Given the description of an element on the screen output the (x, y) to click on. 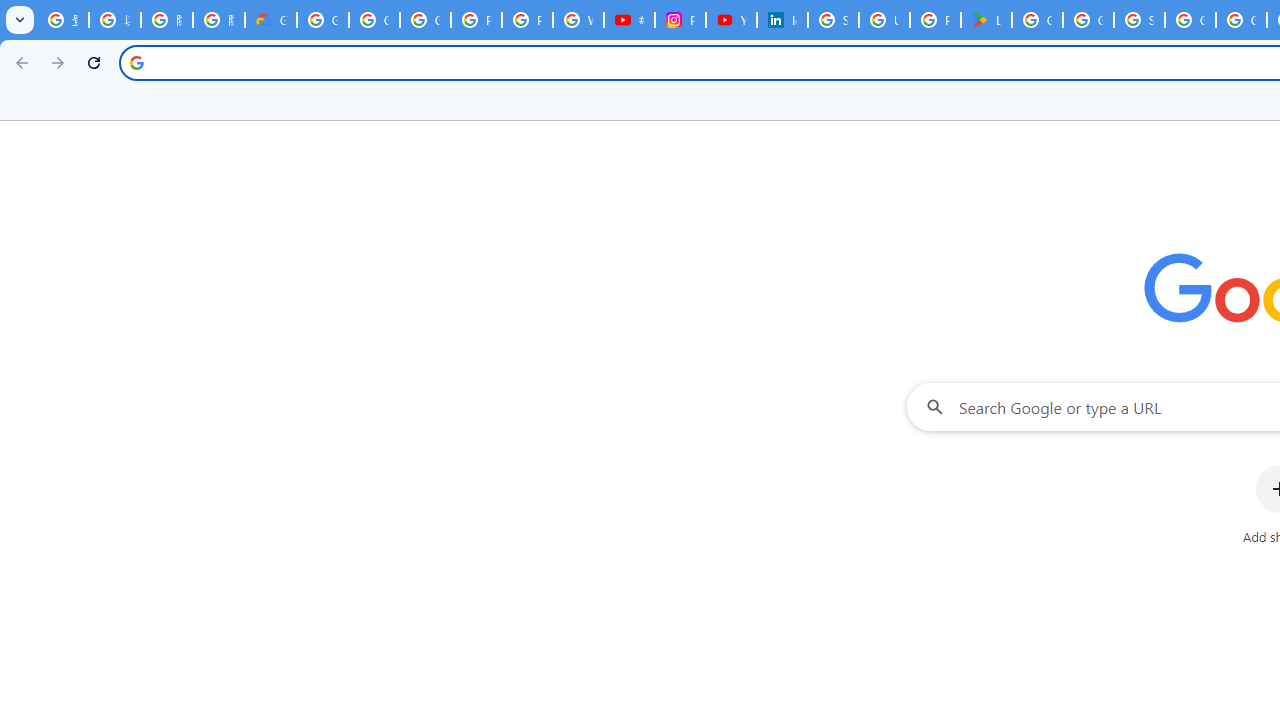
Google Cloud Platform (1241, 20)
#nbabasketballhighlights - YouTube (629, 20)
Sign in - Google Accounts (832, 20)
Sign in - Google Accounts (1138, 20)
